Given the description of an element on the screen output the (x, y) to click on. 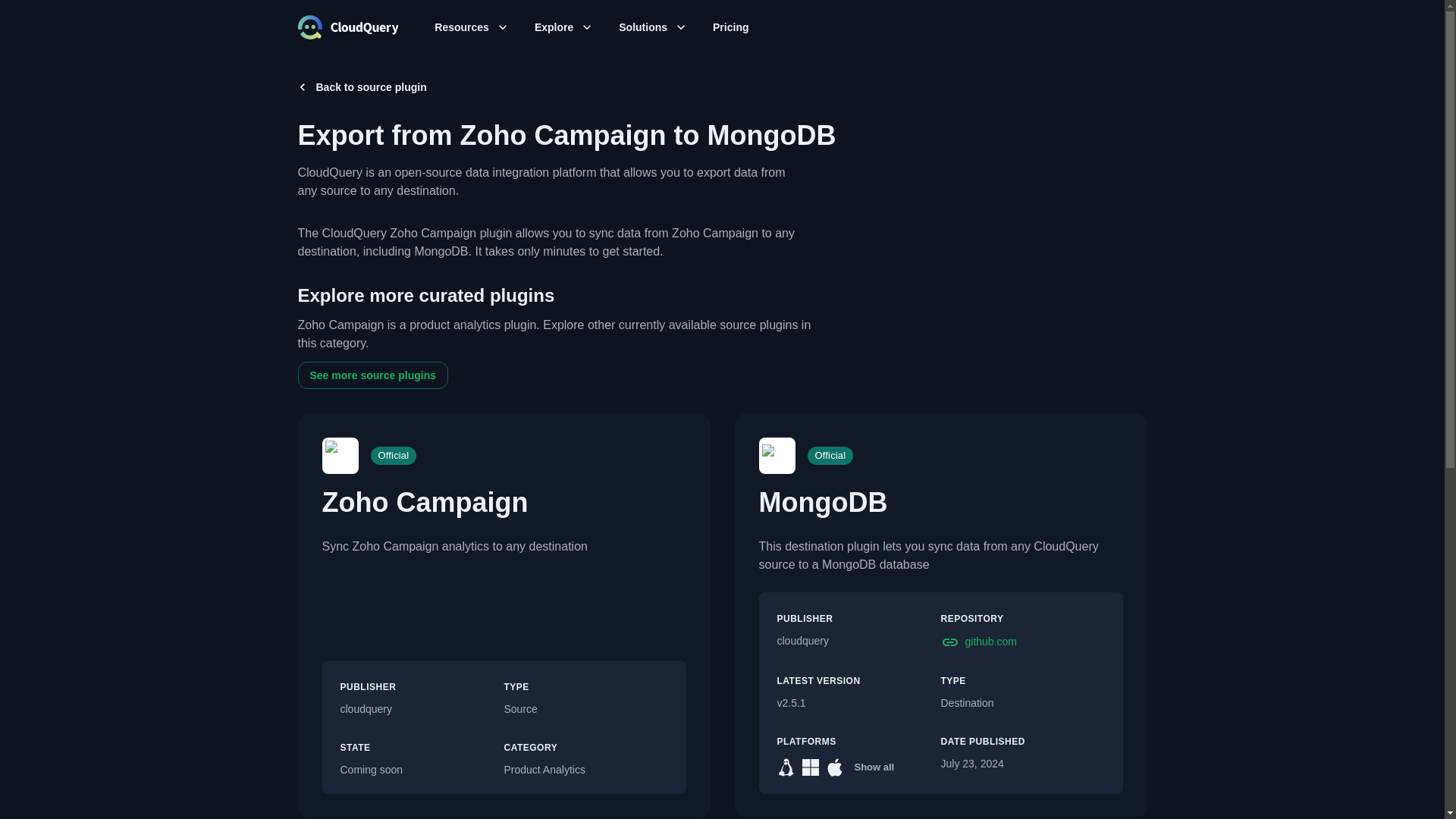
github.com (1021, 642)
Solutions (652, 27)
cloudquery (421, 709)
Resources (470, 27)
Source (584, 709)
All supported platforms (873, 766)
Pricing (730, 27)
Product Analytics (584, 770)
Coming soon (421, 770)
Home (347, 27)
See more source plugins (372, 375)
Back to source plugin (361, 86)
Explore (563, 27)
Show all (873, 766)
v2.5.1 (858, 703)
